Given the description of an element on the screen output the (x, y) to click on. 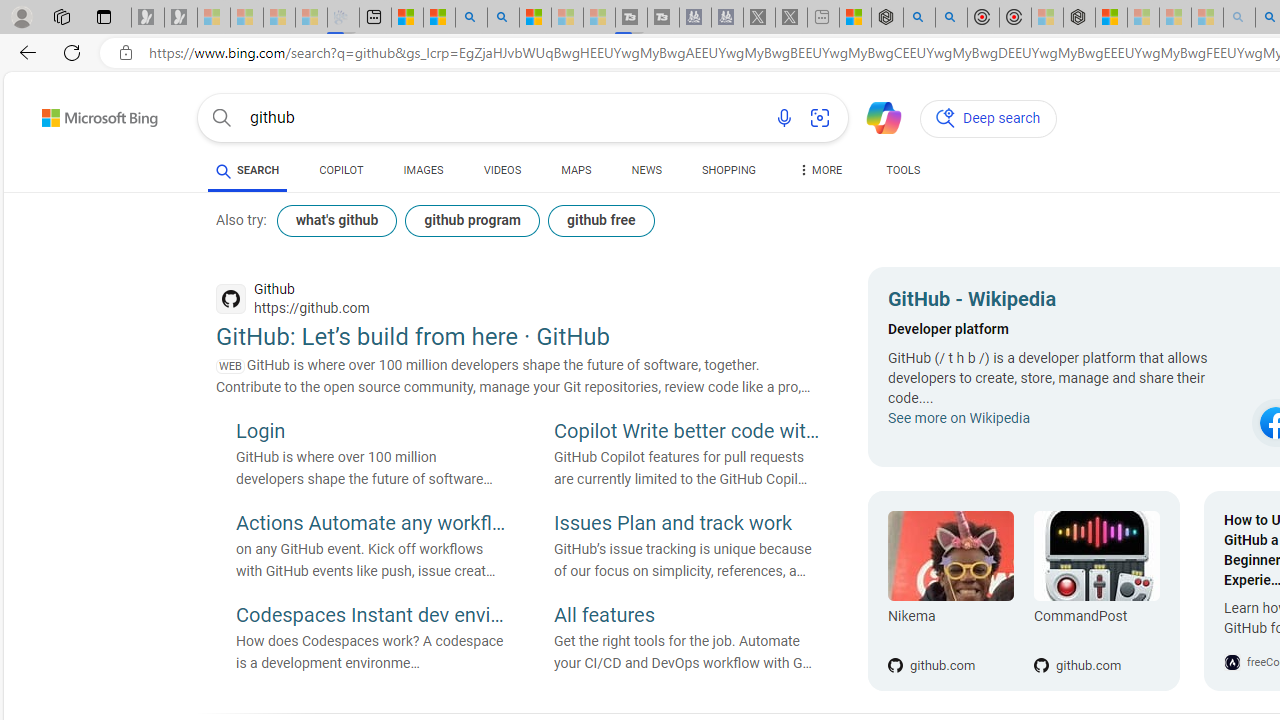
VIDEOS (501, 173)
Copilot Write better code with AI (689, 433)
github program (472, 220)
Search using voice (783, 117)
Codespaces Instant dev environments (370, 616)
Dropdown Menu (819, 170)
SEARCH (247, 170)
MORE (819, 173)
poe ++ standard - Search (950, 17)
MAPS (576, 170)
